Given the description of an element on the screen output the (x, y) to click on. 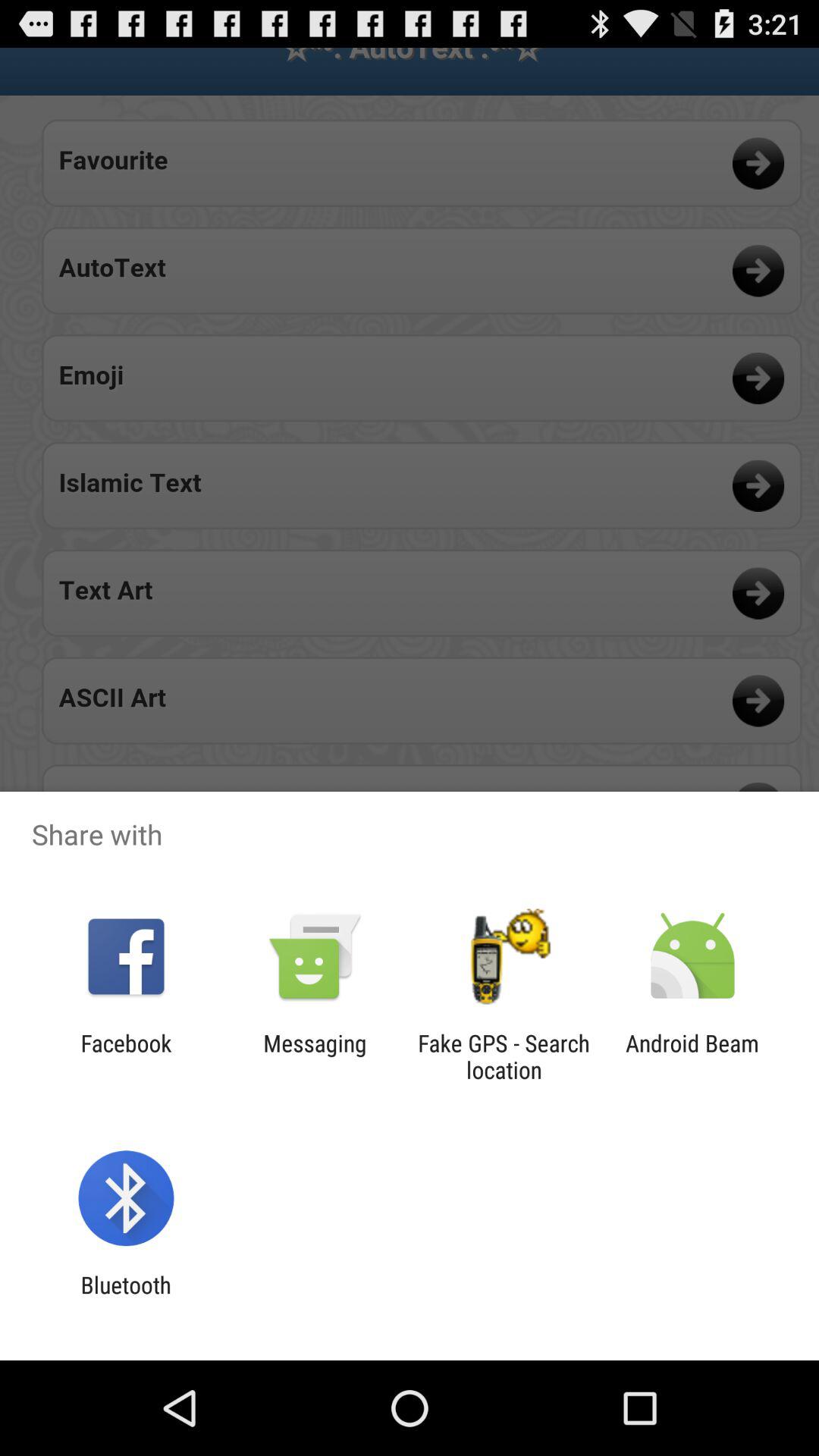
choose fake gps search (503, 1056)
